Given the description of an element on the screen output the (x, y) to click on. 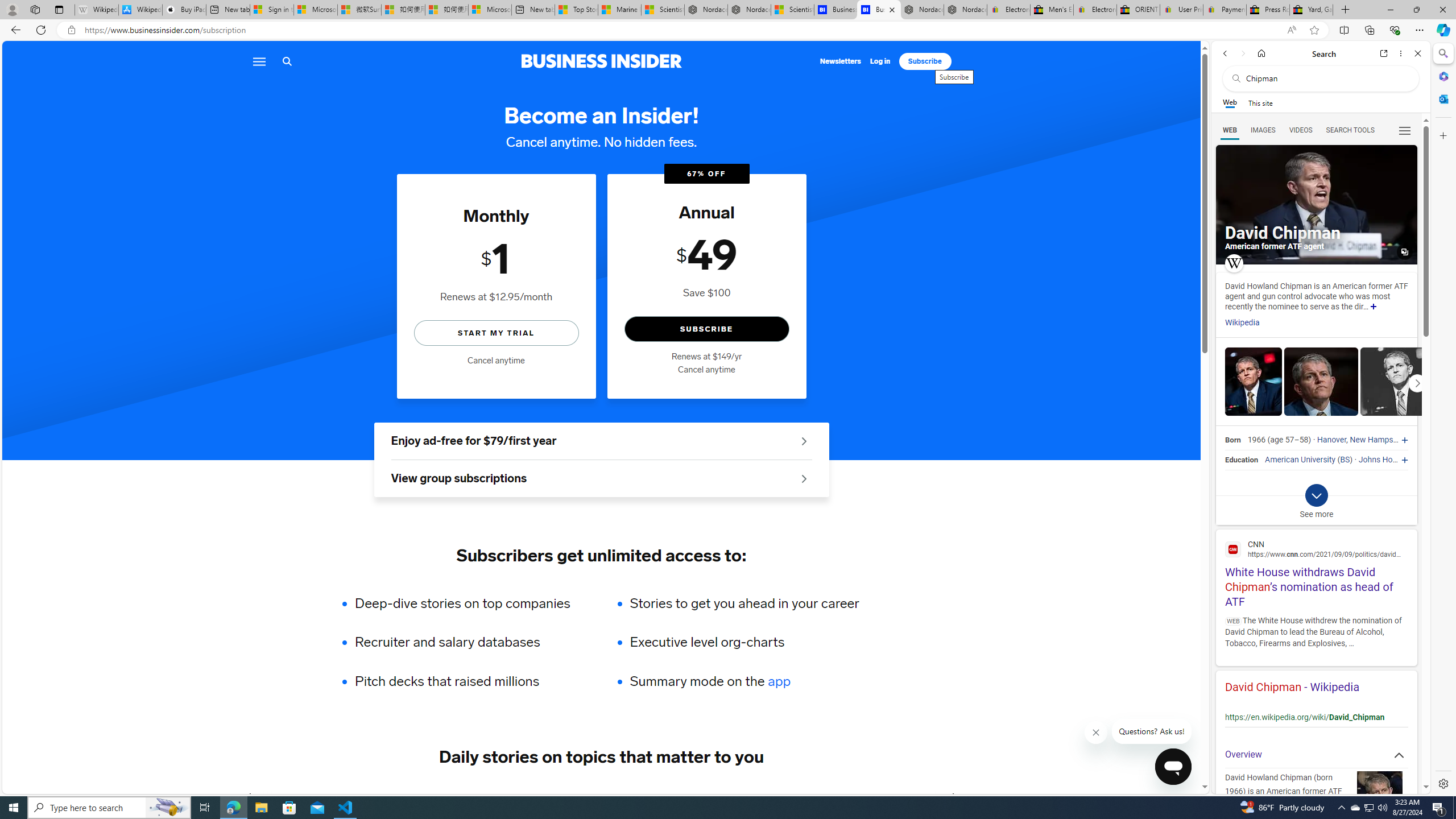
Cancel anytime (706, 369)
Show more (1373, 307)
